Given the description of an element on the screen output the (x, y) to click on. 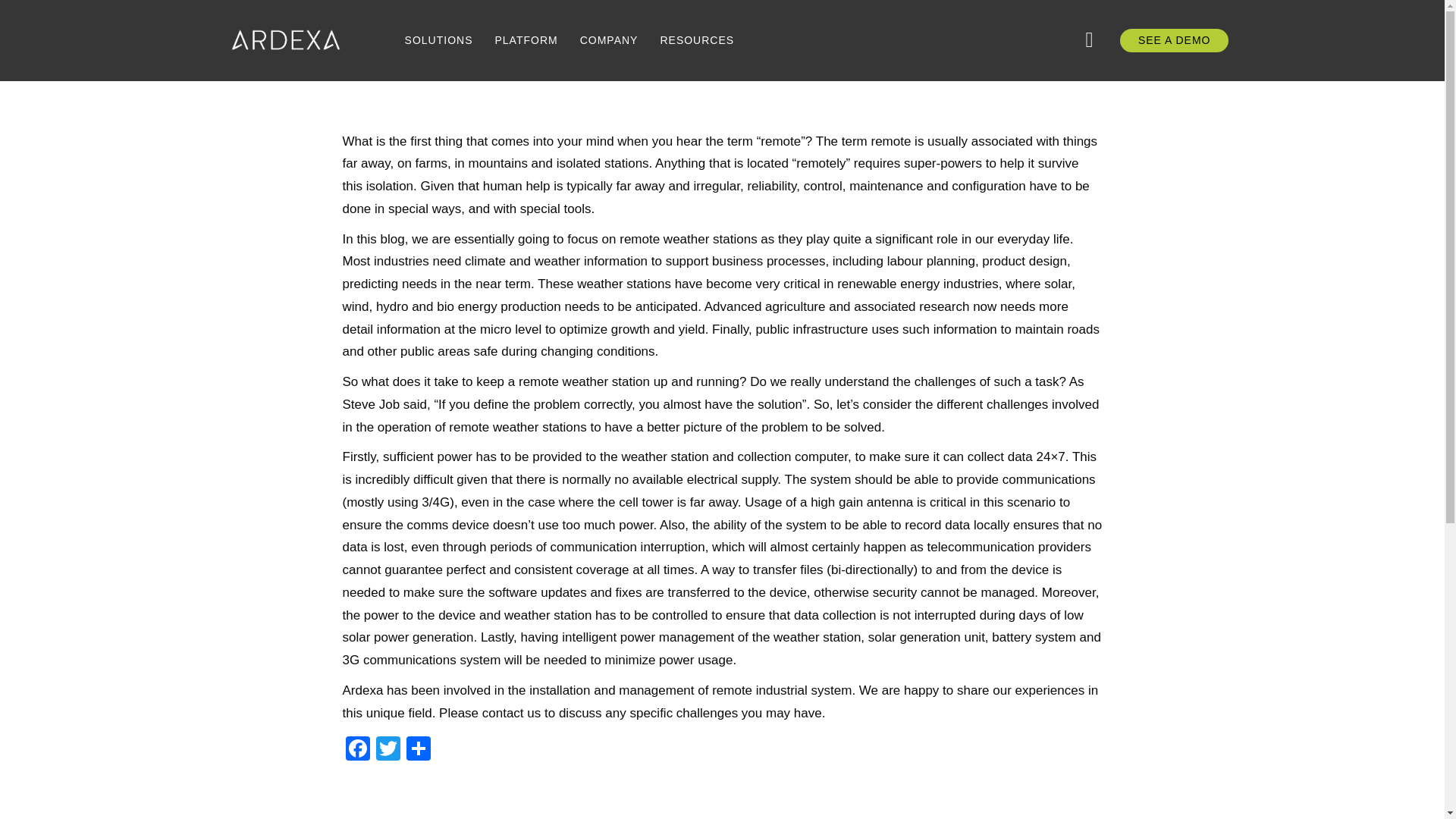
SOLUTIONS (438, 40)
RESOURCES (696, 40)
PLATFORM (525, 40)
Twitter (387, 750)
Facebook (357, 750)
COMPANY (609, 40)
